Given the description of an element on the screen output the (x, y) to click on. 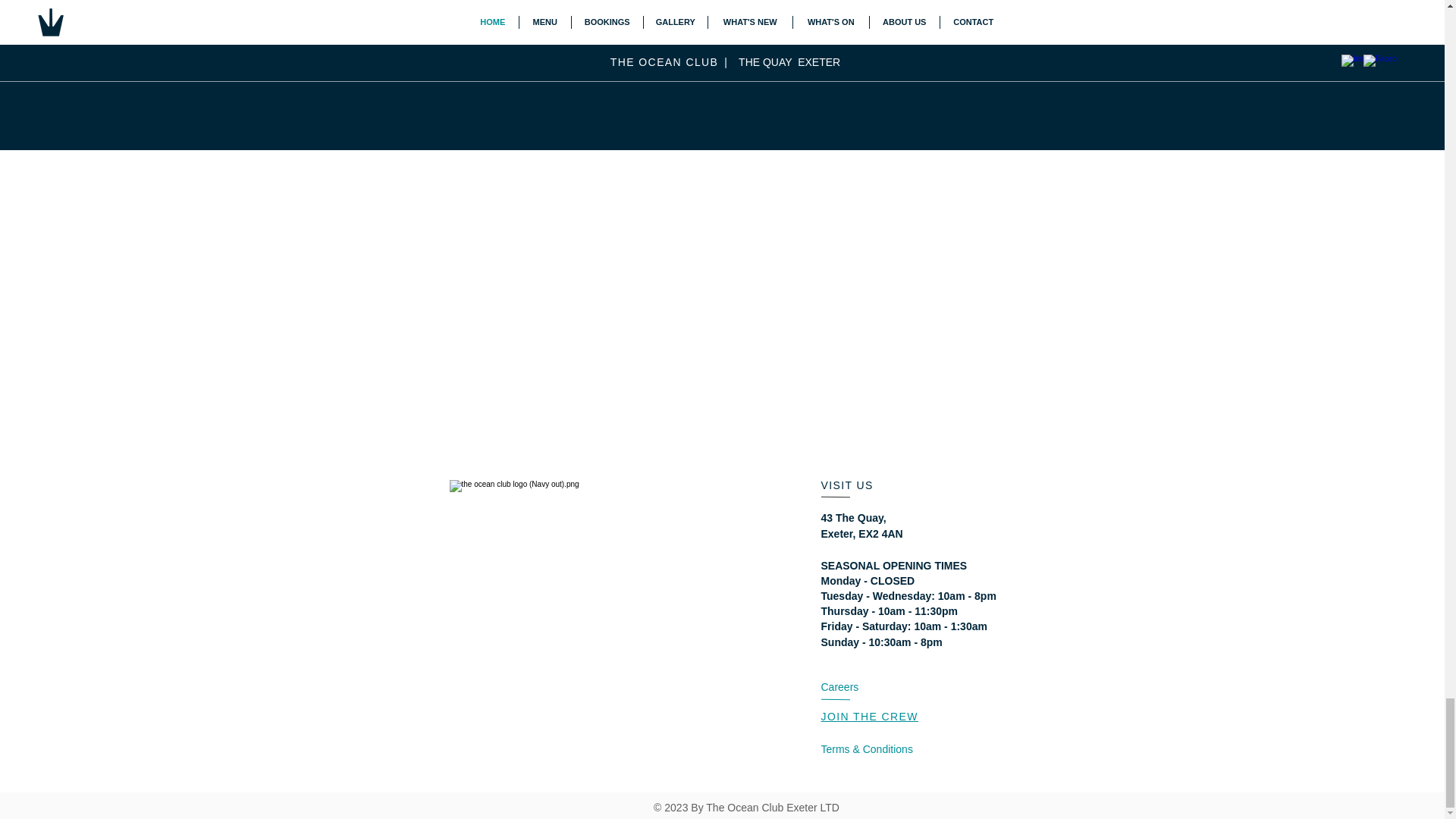
Subscribe Now (853, 23)
JOIN THE CREW (869, 716)
Careers (840, 686)
